Given the description of an element on the screen output the (x, y) to click on. 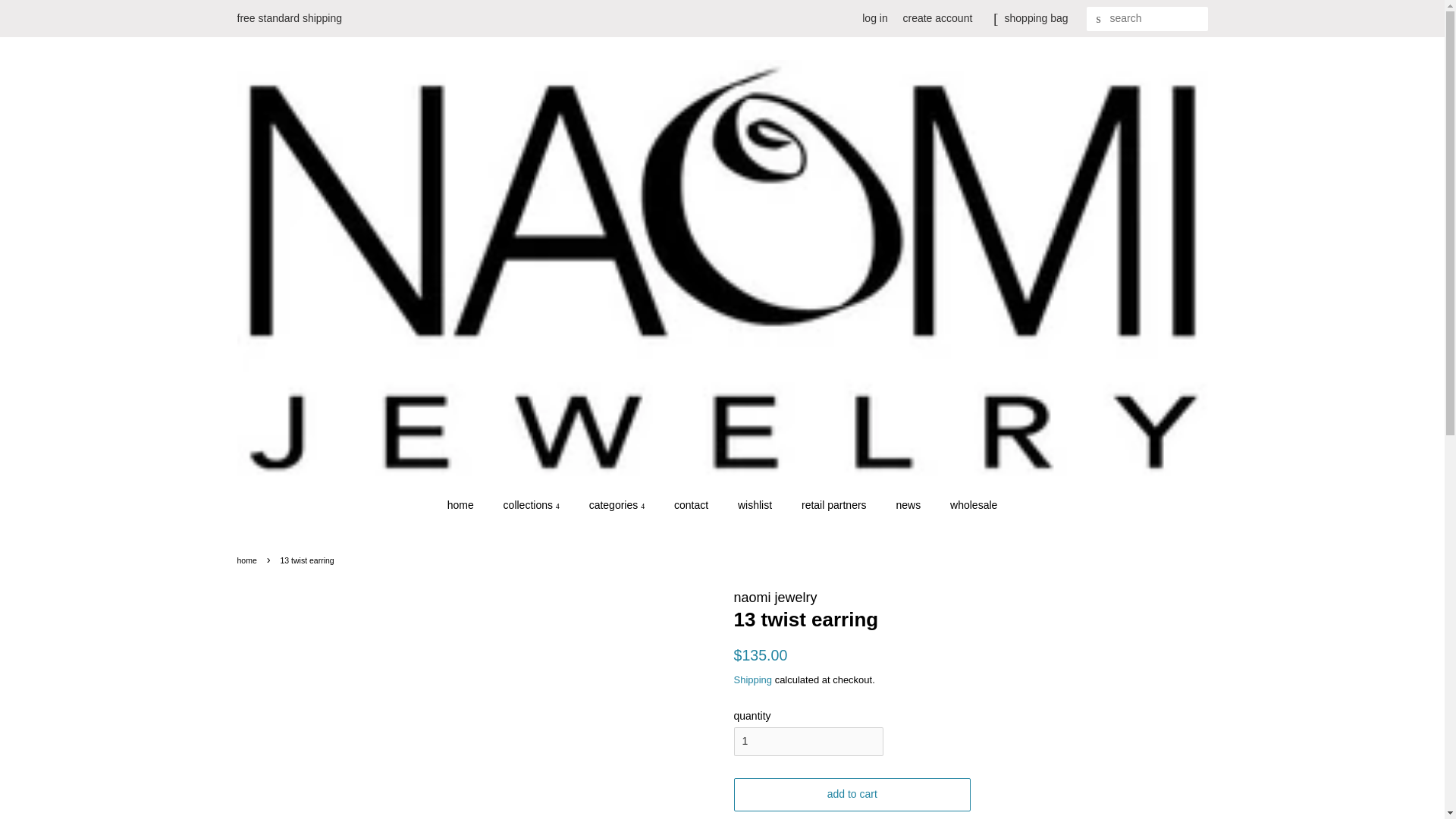
create account (937, 18)
1 (808, 741)
home (467, 505)
search (1097, 18)
collections (533, 505)
shopping bag (1036, 18)
back to the frontpage (247, 560)
log in (873, 18)
